Given the description of an element on the screen output the (x, y) to click on. 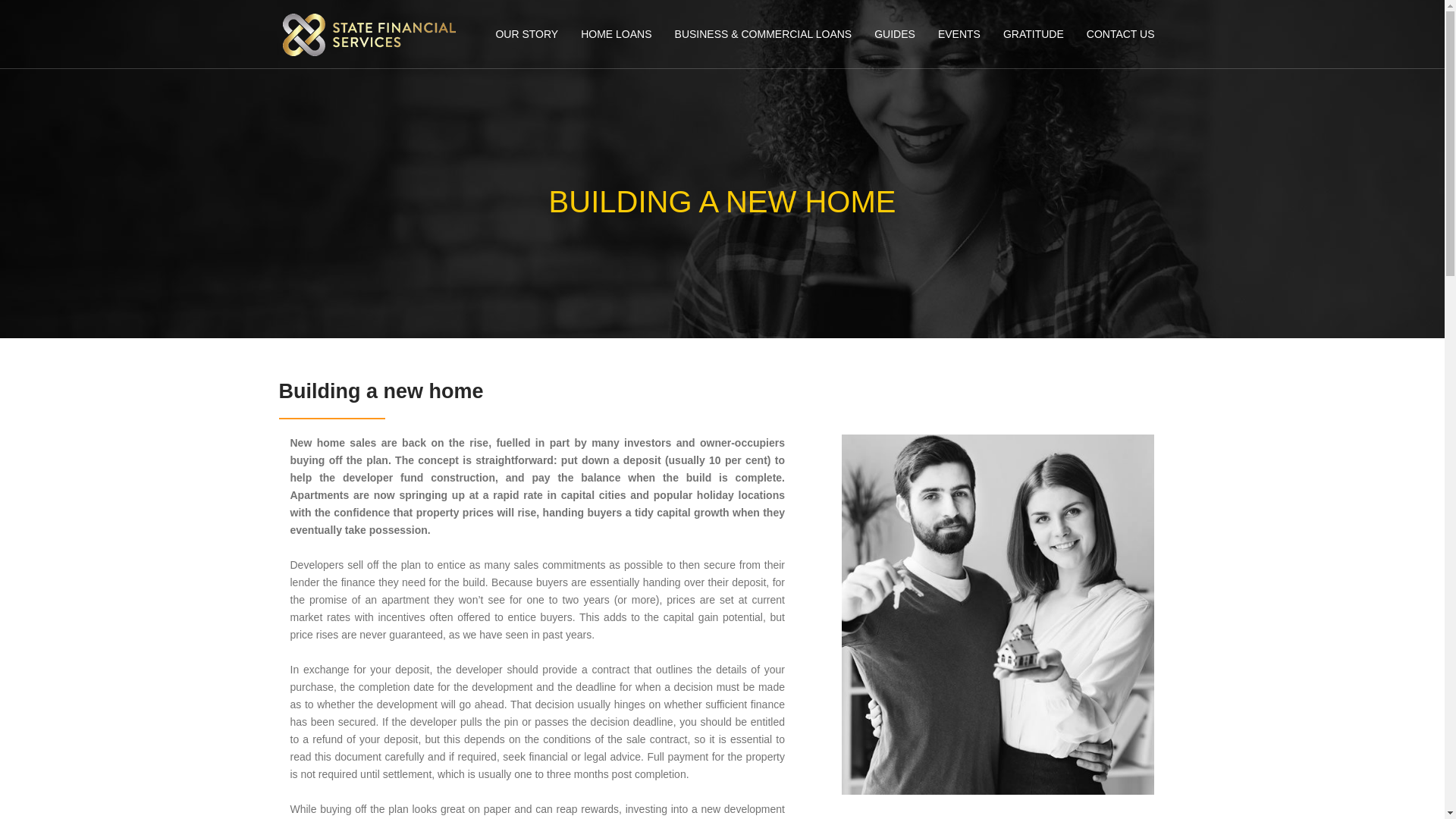
OUR STORY (526, 33)
HOME LOANS (615, 33)
EVENTS (958, 33)
GRATITUDE (1033, 33)
GUIDES (894, 33)
